Given the description of an element on the screen output the (x, y) to click on. 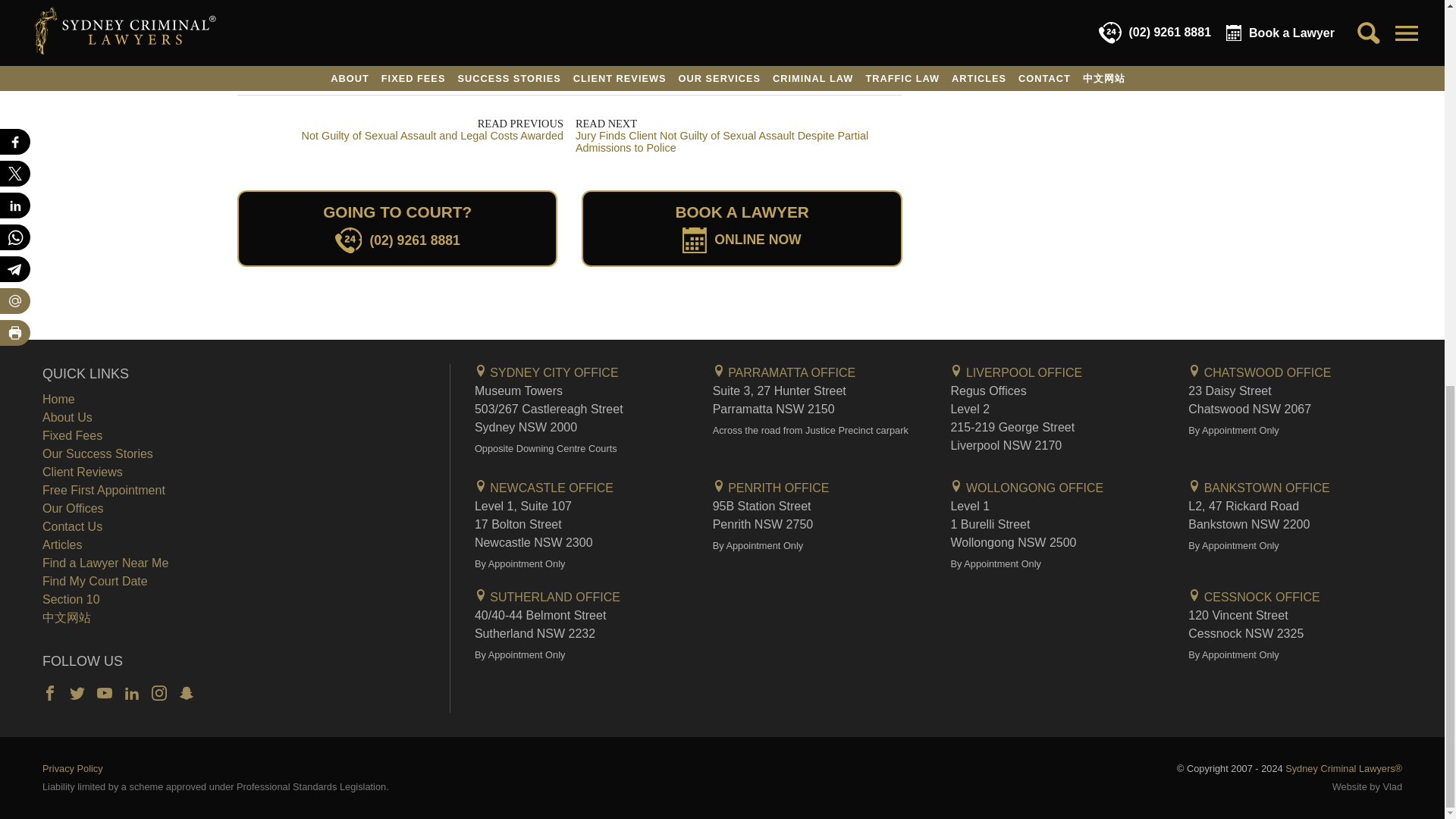
Sydney City Office Page (546, 372)
Parramatta Office Page (784, 372)
Liverpool Office Page (1015, 372)
Chatswood Office Page (1259, 372)
Not Guilty of Sexual Assault and Legal Costs Awarded (398, 136)
